Given the description of an element on the screen output the (x, y) to click on. 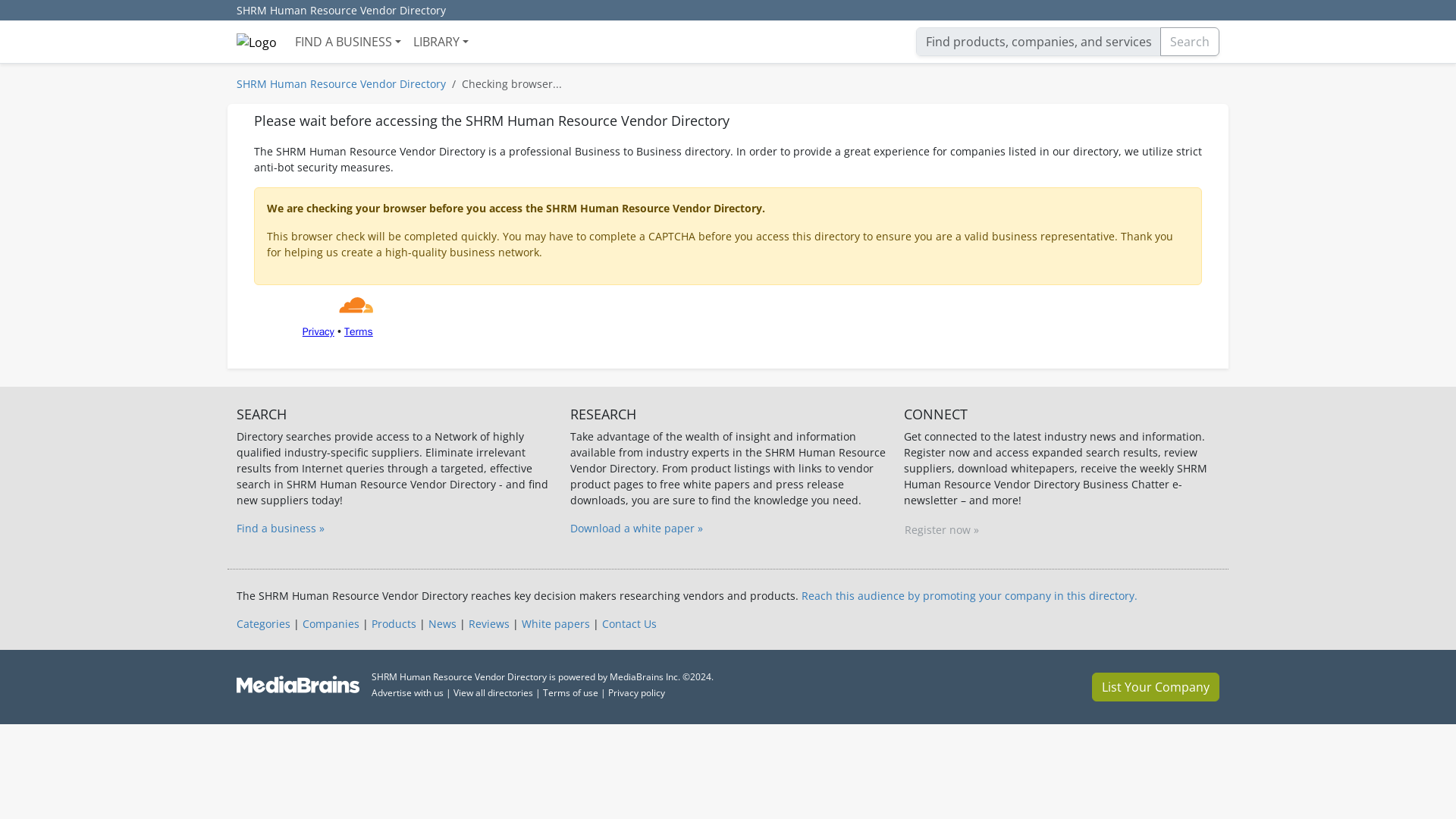
Companies (330, 623)
Terms of use (570, 692)
List Your Company (1156, 686)
LIBRARY (440, 41)
FIND A BUSINESS (347, 41)
Products (393, 623)
View all directories (492, 692)
White papers (555, 623)
Categories (262, 623)
